Given the description of an element on the screen output the (x, y) to click on. 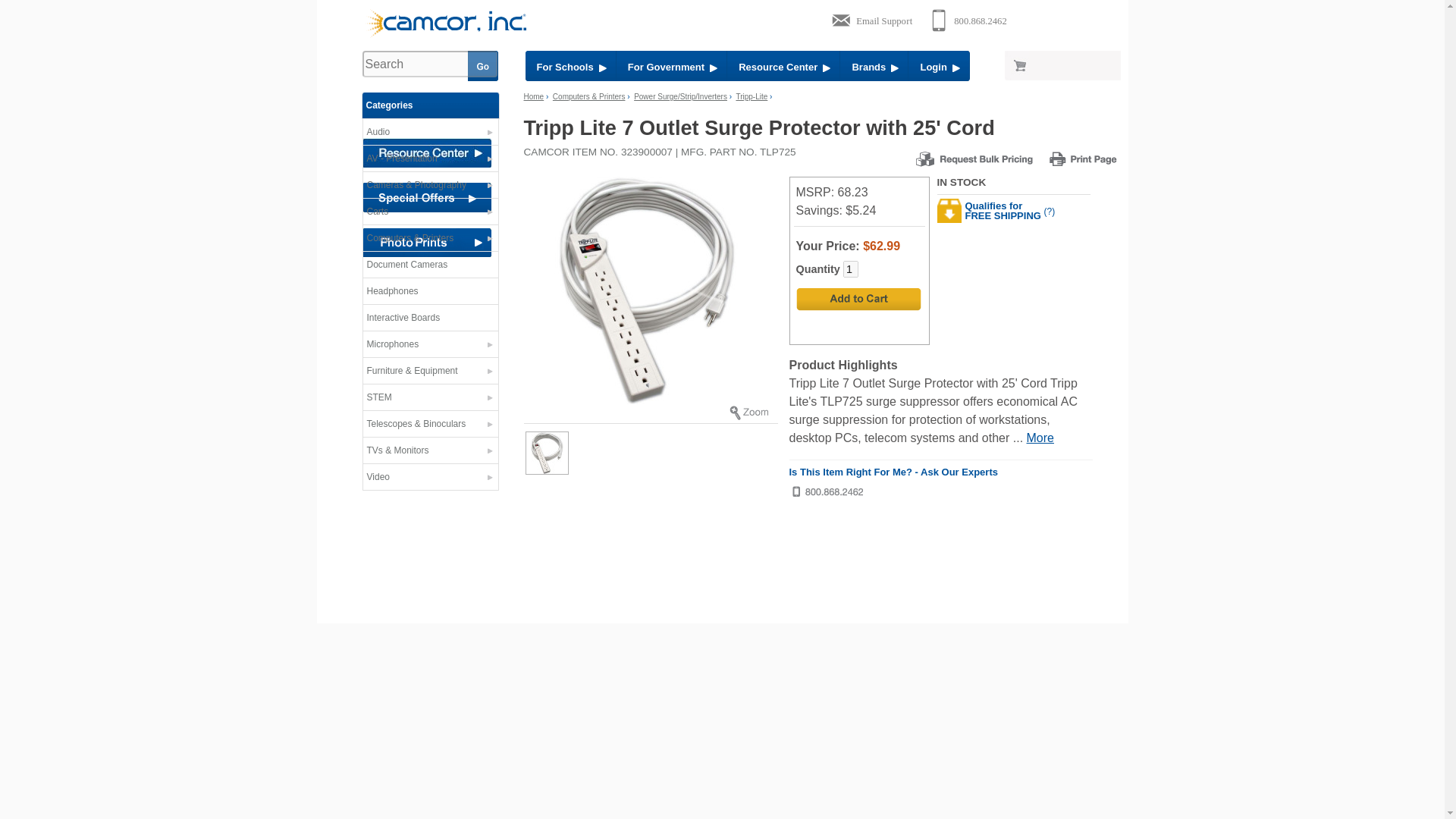
Login   (938, 65)
Resource Center   (783, 65)
1 (851, 269)
AV Products: Projectors Document Cameras, Screens (429, 161)
For Schools   (569, 65)
For Government   (670, 65)
Free Shipping (1049, 211)
Audio Headphones (429, 294)
Free Shipping (1049, 215)
Brands   (874, 65)
